Given the description of an element on the screen output the (x, y) to click on. 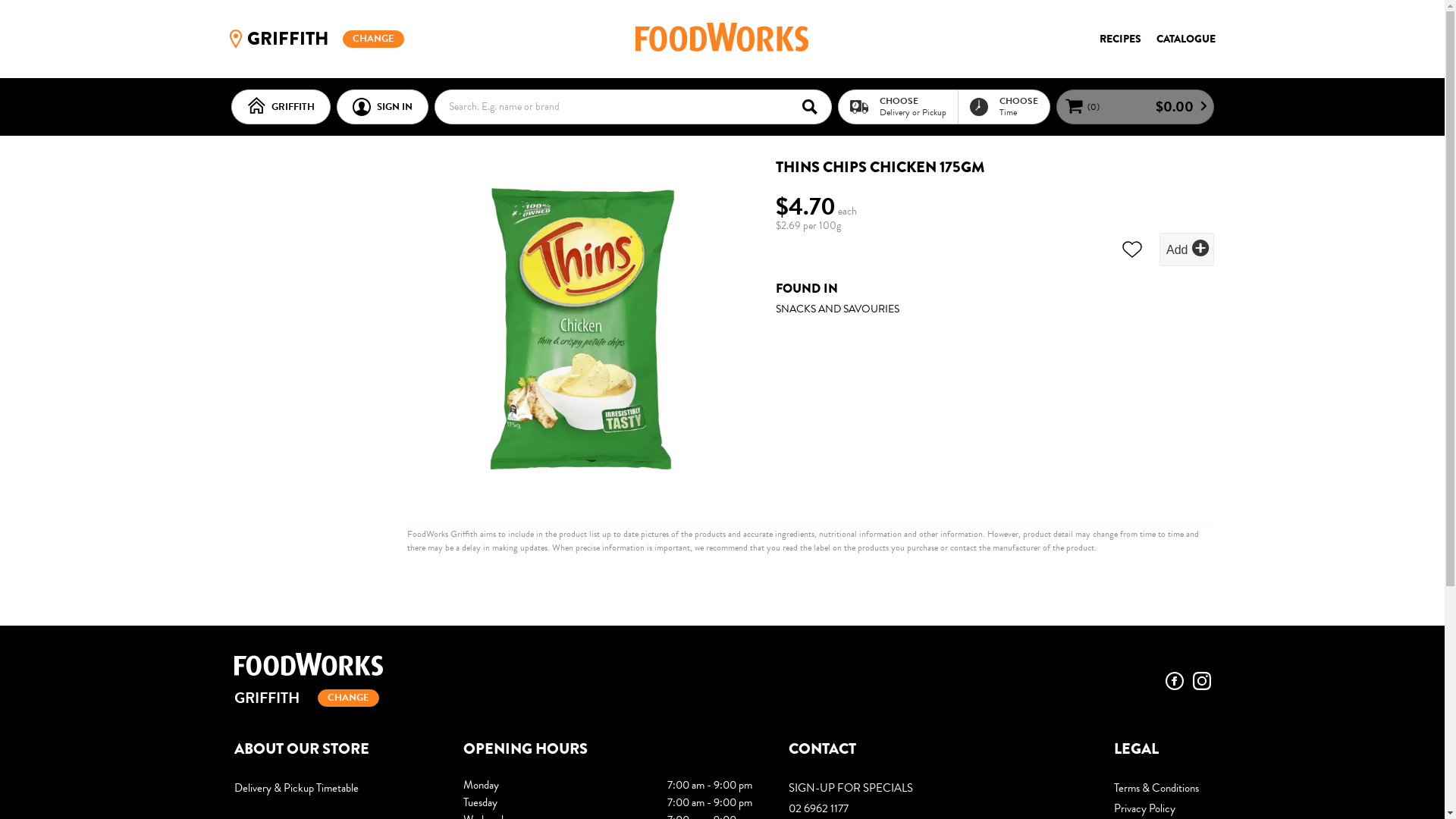
Terms & Conditions Element type: text (1161, 788)
CATALOGUE Element type: text (1184, 38)
Add+ Element type: text (1186, 248)
CHOOSE
Time Element type: text (1002, 105)
SIGN-UP FOR SPECIALS Element type: text (932, 788)
SIGN IN Element type: text (382, 106)
GRIFFITH Element type: text (363, 699)
Delivery & Pickup Timetable Element type: text (329, 788)
CHANGE Element type: text (373, 38)
GRIFFITH Element type: text (279, 106)
Instagram foodworksgriffith Element type: hover (1201, 680)
Search Element type: hover (814, 105)
Facebook Element type: hover (1173, 680)
(0)
$0.00 Element type: text (1134, 106)
SNACKS AND SAVOURIES Element type: text (837, 308)
RECIPES Element type: text (1120, 38)
CHOOSE
Delivery or Pickup Element type: text (897, 105)
